Given the description of an element on the screen output the (x, y) to click on. 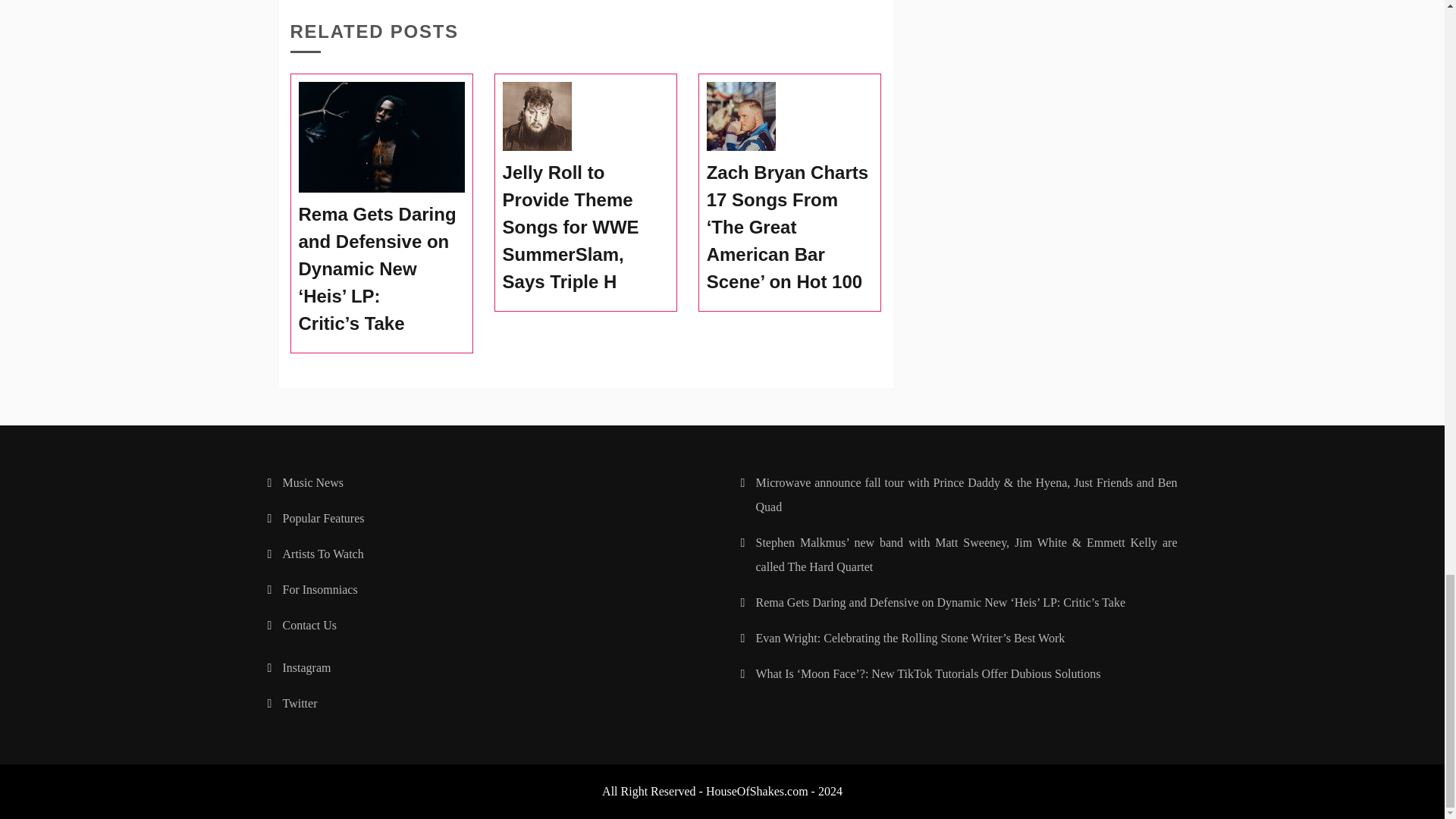
Contact Us (309, 625)
For Insomniacs (319, 589)
Popular Features (323, 517)
Artists To Watch (322, 553)
Music News (312, 481)
